Given the description of an element on the screen output the (x, y) to click on. 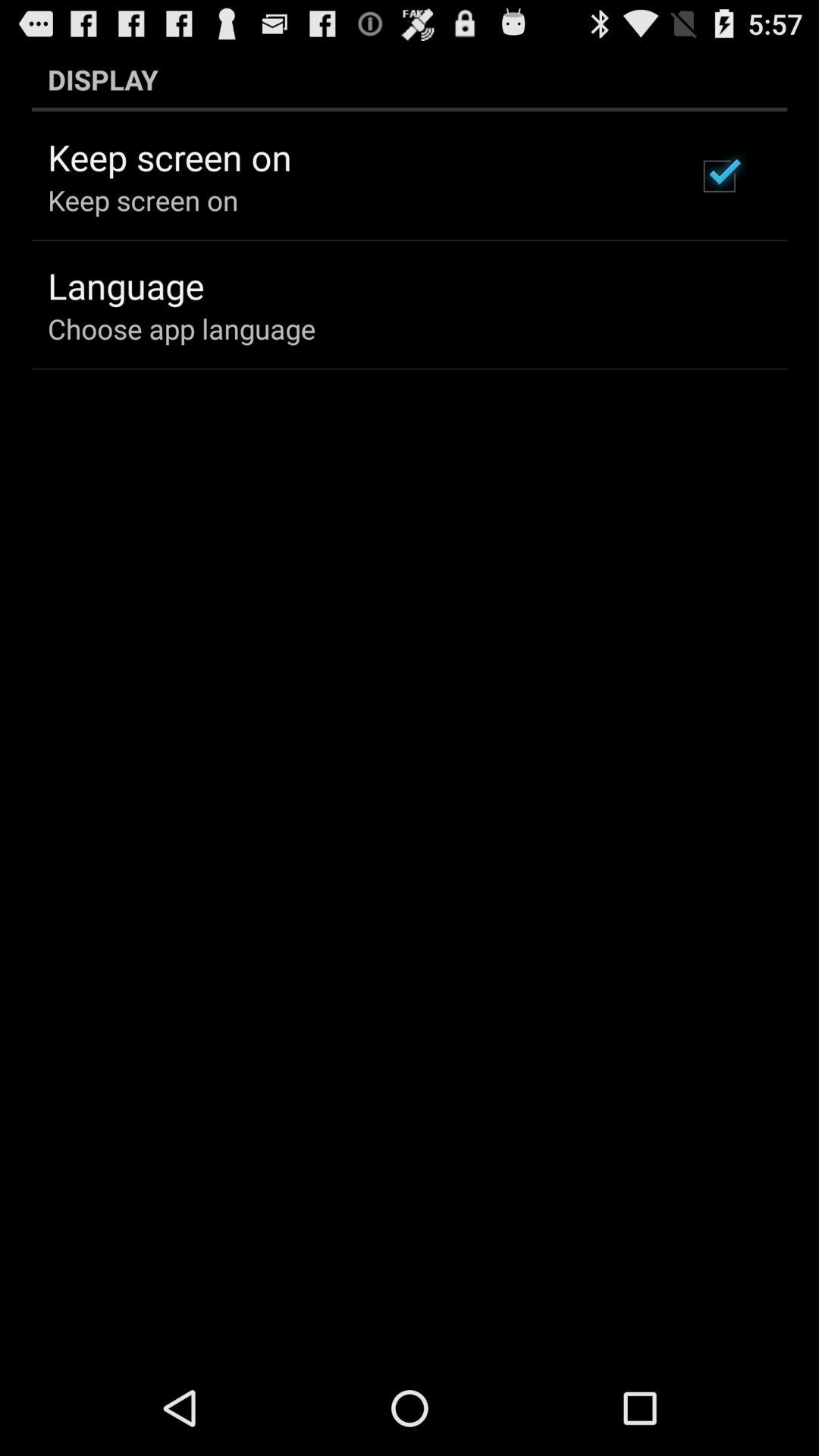
tap item to the right of the keep screen on (719, 176)
